Given the description of an element on the screen output the (x, y) to click on. 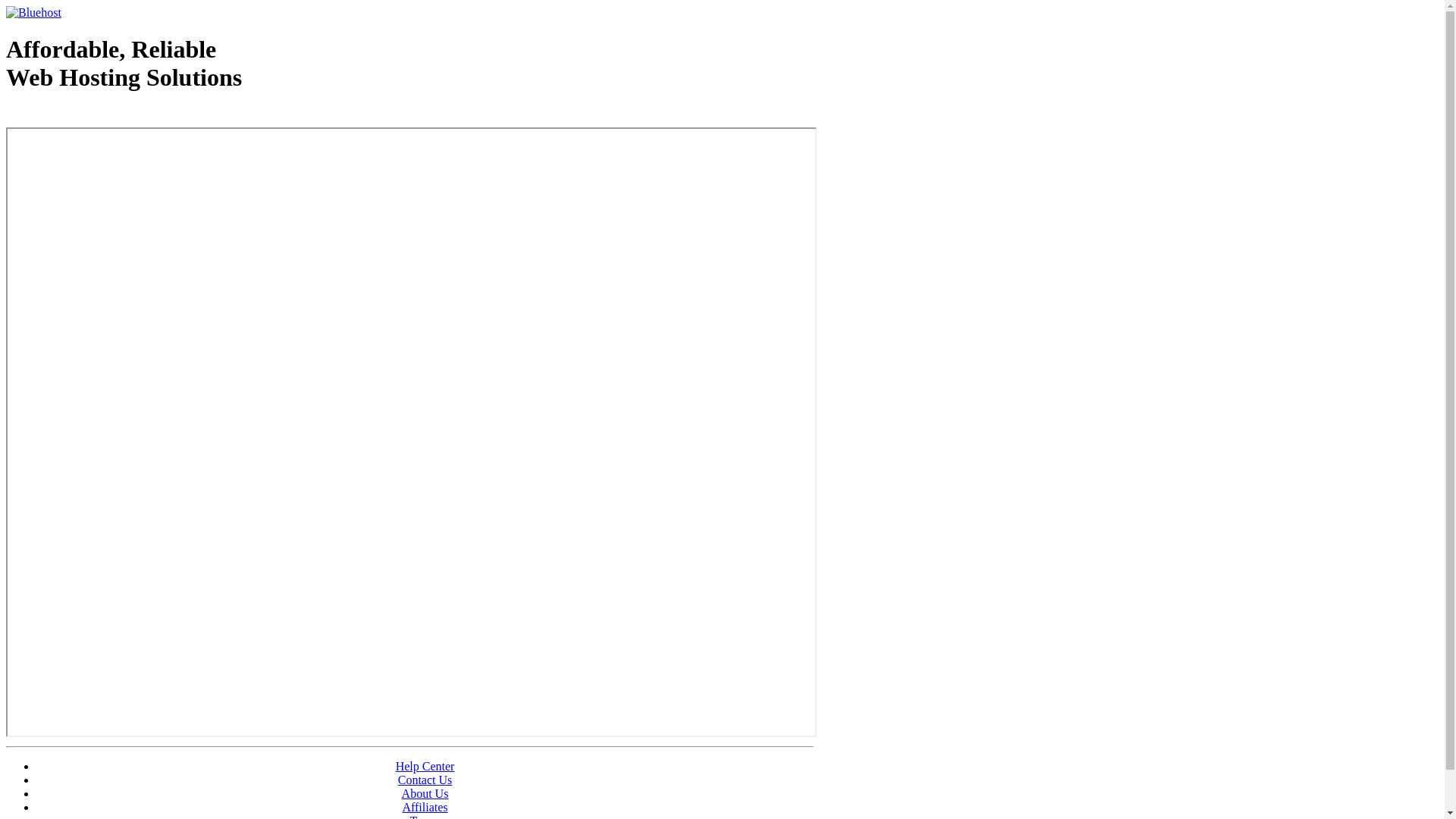
Affiliates Element type: text (424, 806)
Contact Us Element type: text (425, 779)
About Us Element type: text (424, 793)
Web Hosting - courtesy of www.bluehost.com Element type: text (94, 115)
Help Center Element type: text (425, 765)
